Given the description of an element on the screen output the (x, y) to click on. 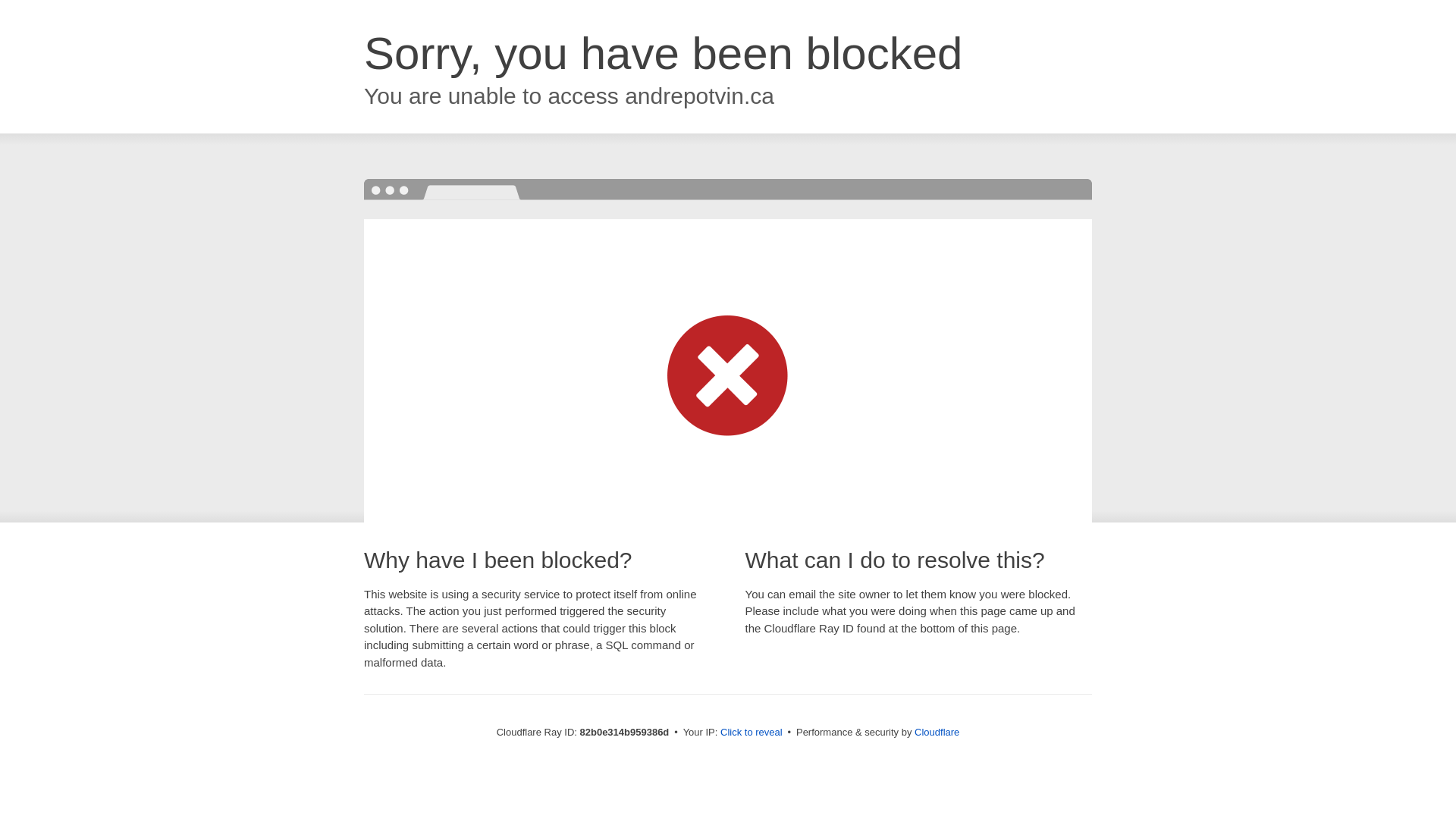
Click to reveal Element type: text (751, 732)
Cloudflare Element type: text (936, 731)
